Given the description of an element on the screen output the (x, y) to click on. 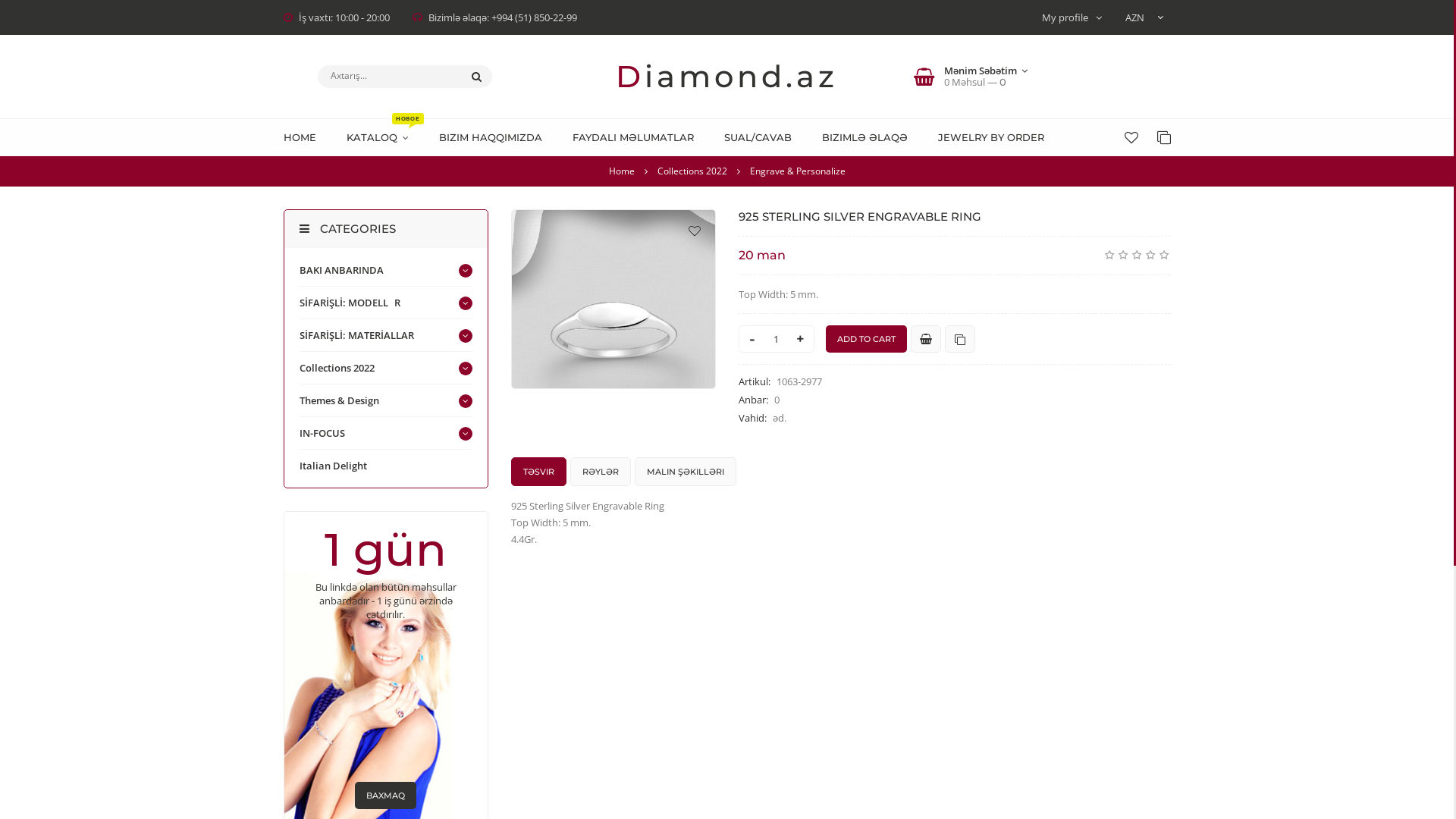
Collections 2022 Element type: text (335, 367)
1 Element type: text (1109, 254)
4 Element type: text (1150, 254)
5 Element type: text (1163, 254)
Home Element type: text (622, 170)
SUAL/CAVAB Element type: text (764, 136)
KATALOQ Element type: text (384, 136)
Compare Element type: hover (1163, 137)
BAKI ANBARINDA Element type: text (340, 269)
3 Element type: text (1136, 254)
Diamond.az Element type: text (726, 76)
Engrave & Personalize Element type: text (796, 170)
HOME Element type: text (307, 136)
JEWELRY BY ORDER Element type: text (997, 136)
Axtar Element type: hover (476, 76)
Add to Cart Element type: text (865, 338)
Italian Delight Element type: text (332, 465)
BIZIM HAQQIMIZDA Element type: text (497, 136)
BAXMAQ Element type: text (385, 795)
Wish list Element type: hover (1130, 137)
IN-FOCUS Element type: text (321, 432)
Themes & Design Element type: text (338, 400)
Collections 2022 Element type: text (692, 170)
2 Element type: text (1122, 254)
Add to Wish List Element type: hover (694, 230)
